Given the description of an element on the screen output the (x, y) to click on. 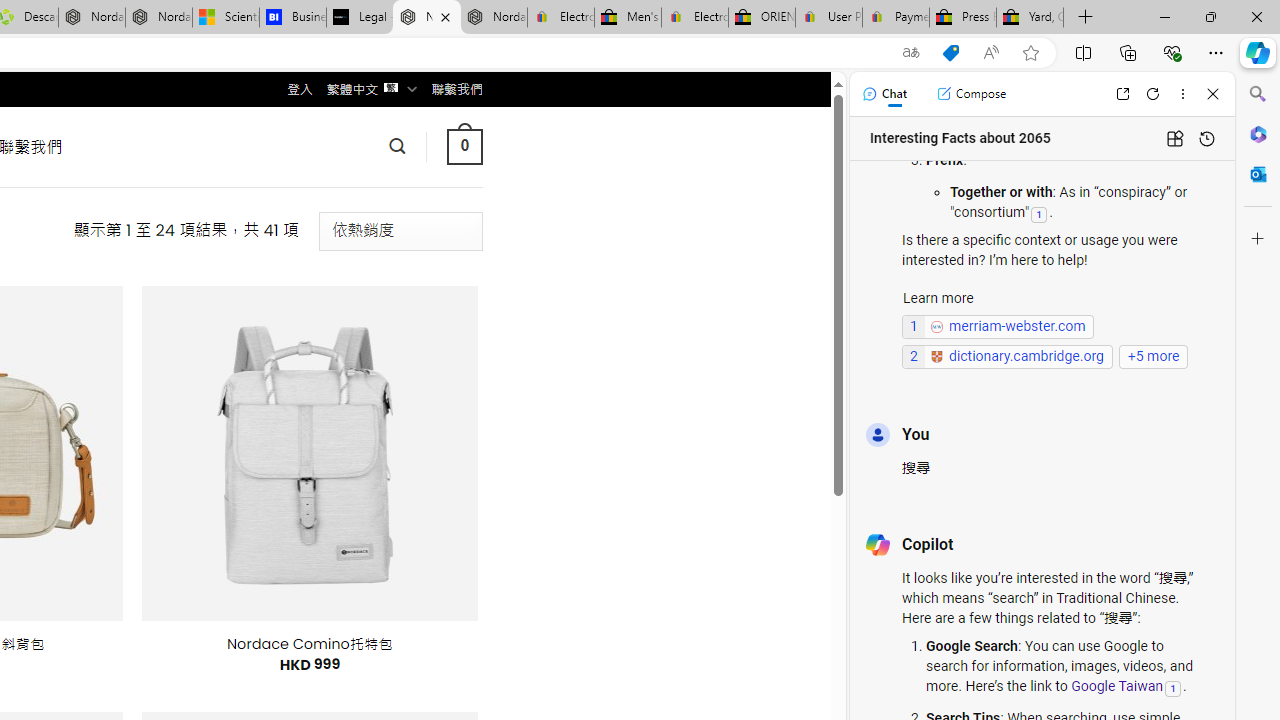
User Privacy Notice | eBay (828, 17)
